Given the description of an element on the screen output the (x, y) to click on. 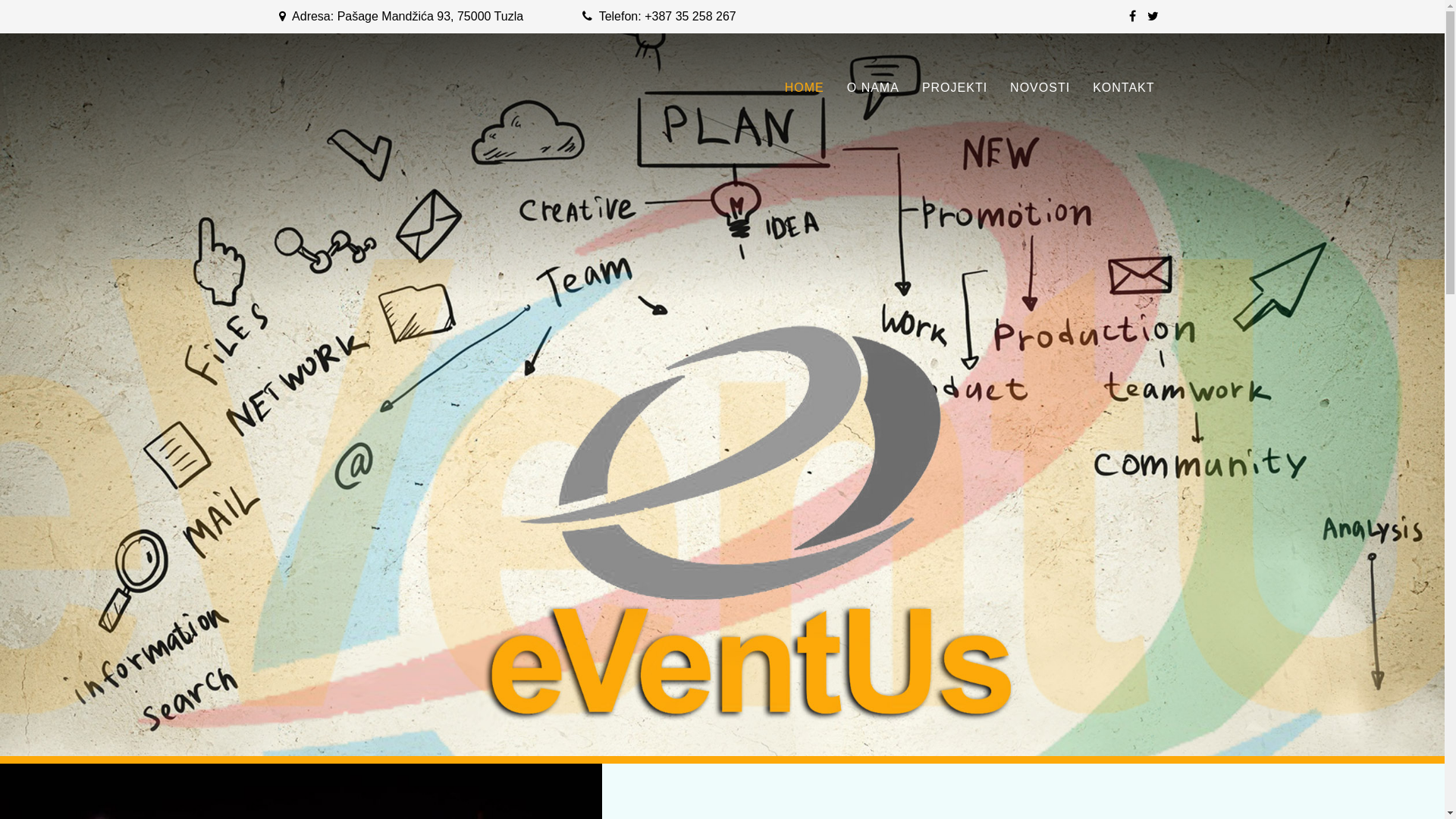
+387 35 258 267 Element type: text (690, 15)
KONTAKT Element type: text (1123, 87)
PROJEKTI Element type: text (954, 87)
O NAMA Element type: text (872, 87)
NOVOSTI Element type: text (1039, 87)
HOME Element type: text (804, 87)
